Given the description of an element on the screen output the (x, y) to click on. 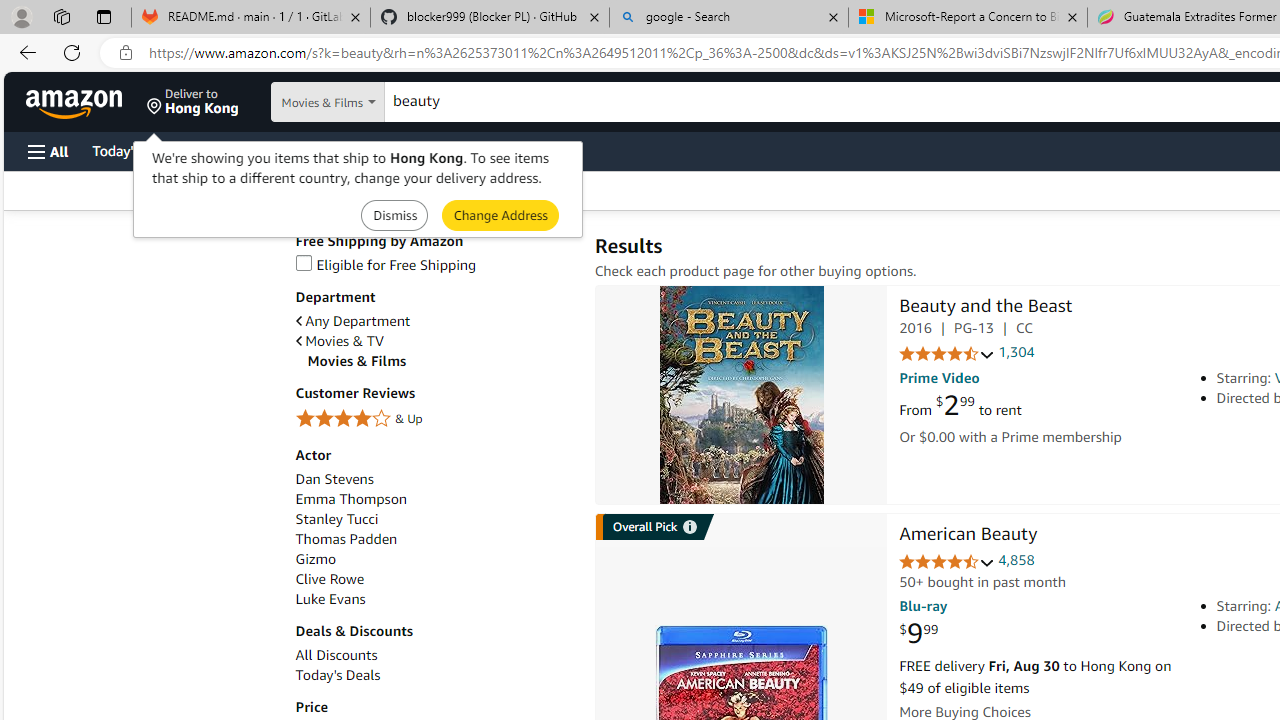
4,858 (1016, 560)
Luke Evans (434, 599)
Beauty and the Beast (985, 308)
Dan Stevens (333, 479)
Search in (371, 102)
Amazon (76, 101)
Submit (499, 214)
1,304 (1016, 352)
Blu-ray (923, 606)
Gift Cards (442, 150)
